Given the description of an element on the screen output the (x, y) to click on. 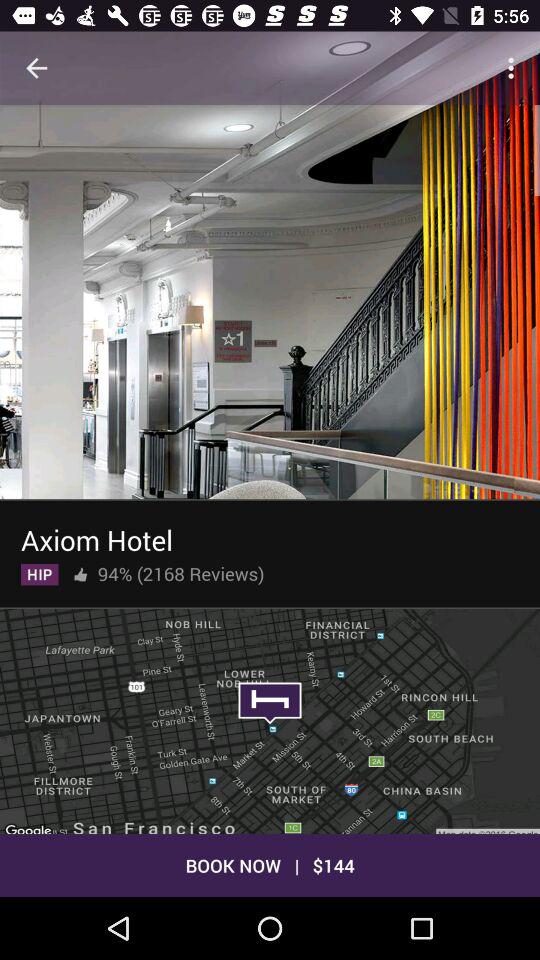
launch icon at the top left corner (36, 68)
